Given the description of an element on the screen output the (x, y) to click on. 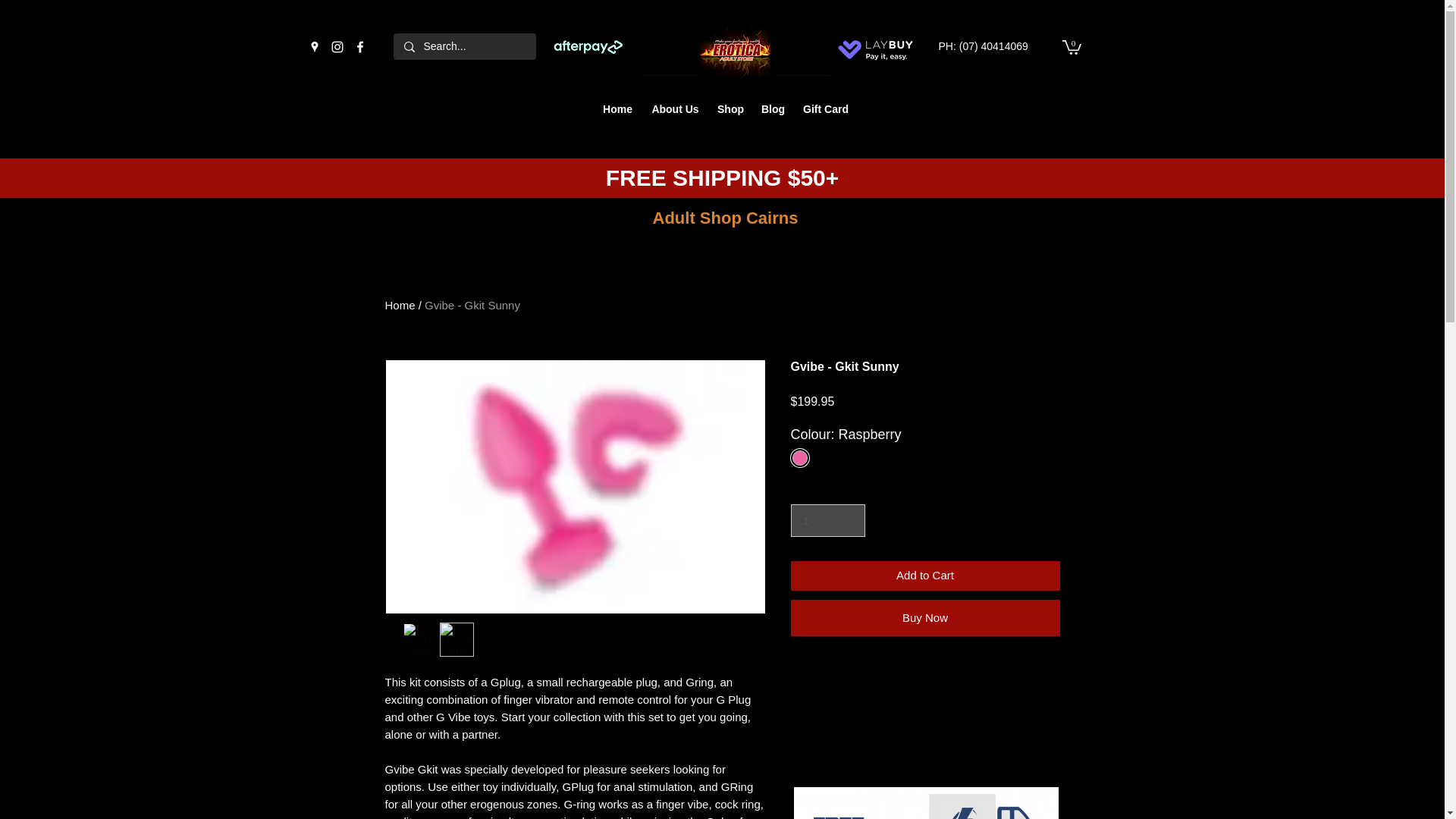
Gvibe - Gkit Sunny (472, 305)
Buy Now (924, 617)
Shop (729, 108)
Blog (772, 108)
Gift Card (825, 108)
Home (617, 108)
0 (1070, 46)
About Us (674, 108)
Home (399, 305)
0 (1070, 46)
